Given the description of an element on the screen output the (x, y) to click on. 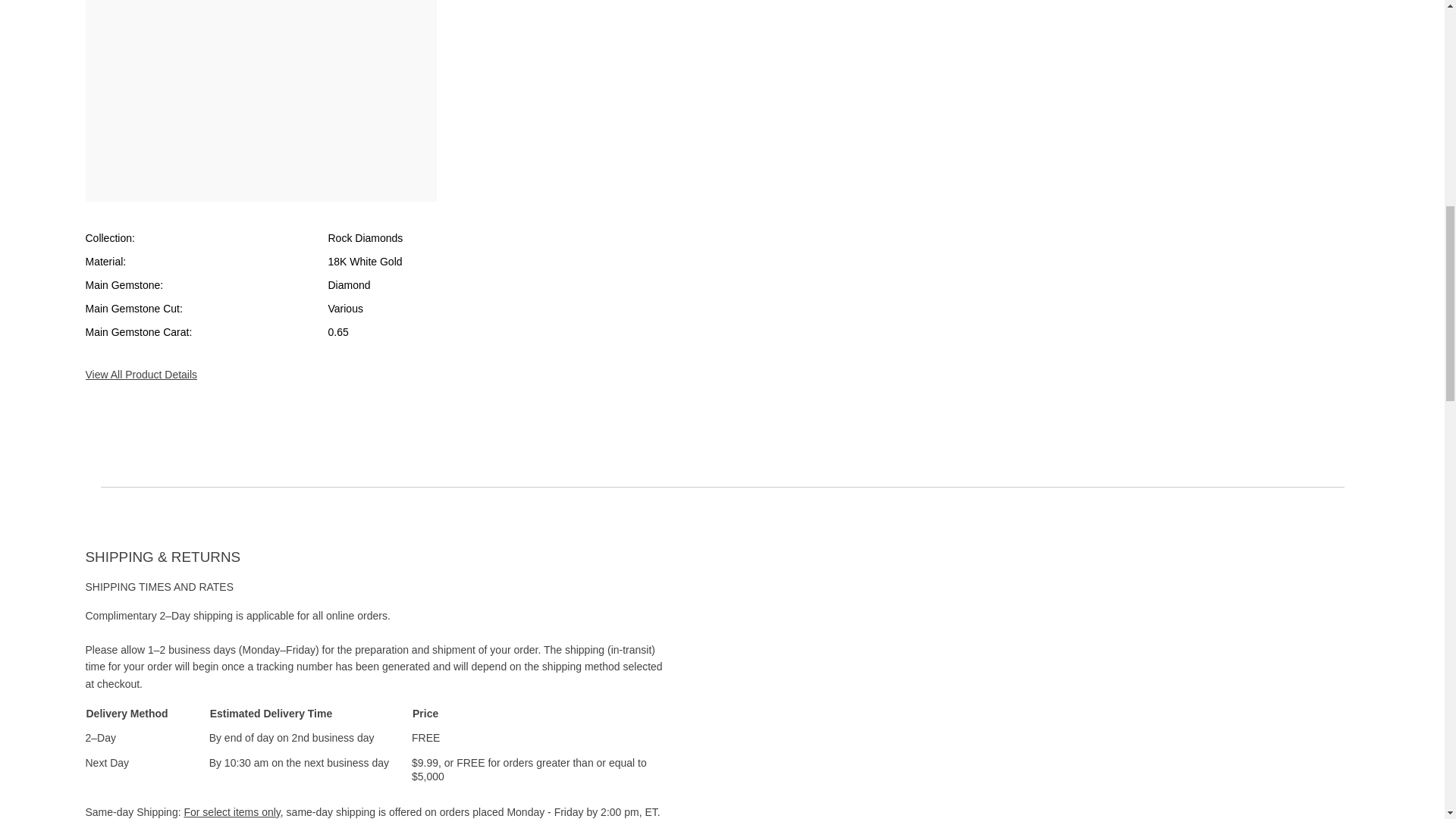
Rock Diamonds Ear Huggies (261, 93)
Show More (439, 364)
